Given the description of an element on the screen output the (x, y) to click on. 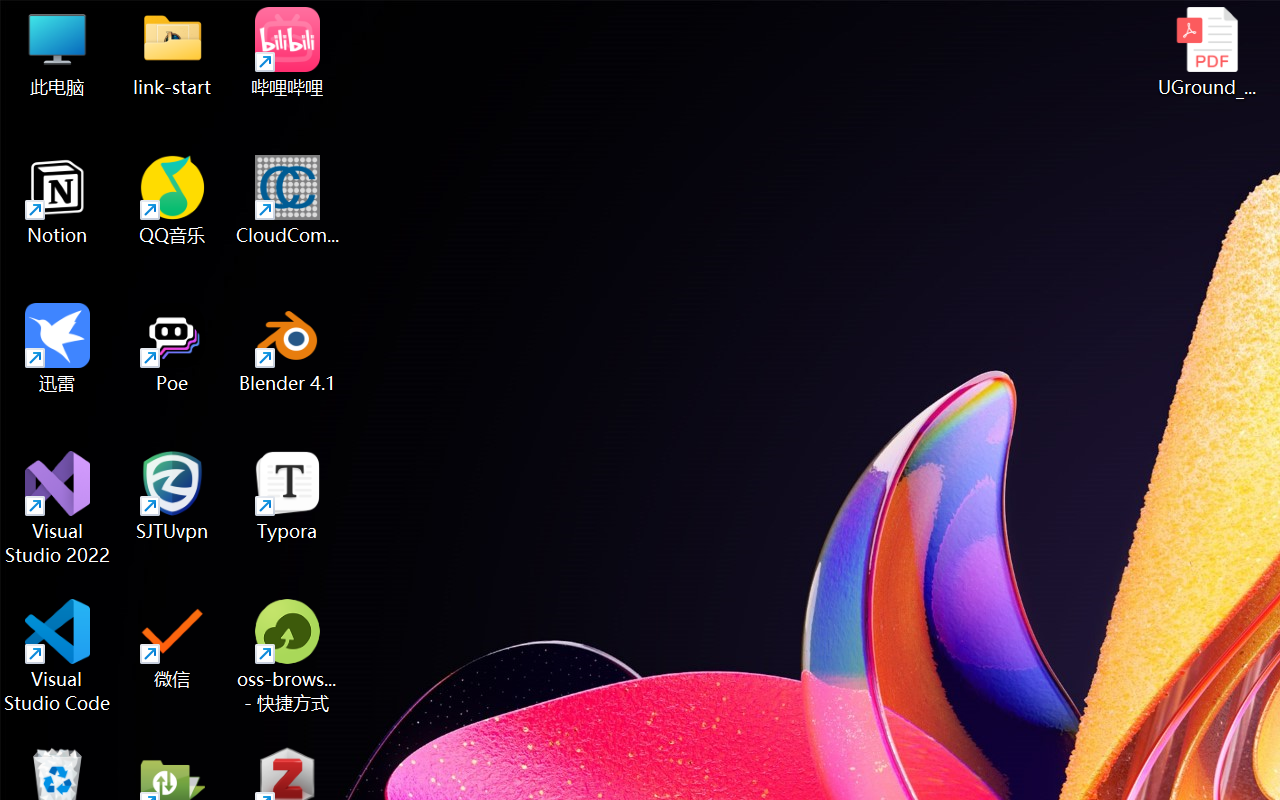
Blender 4.1 (287, 348)
Visual Studio Code (57, 656)
SJTUvpn (172, 496)
UGround_paper.pdf (1206, 52)
Typora (287, 496)
Visual Studio 2022 (57, 508)
CloudCompare (287, 200)
